Given the description of an element on the screen output the (x, y) to click on. 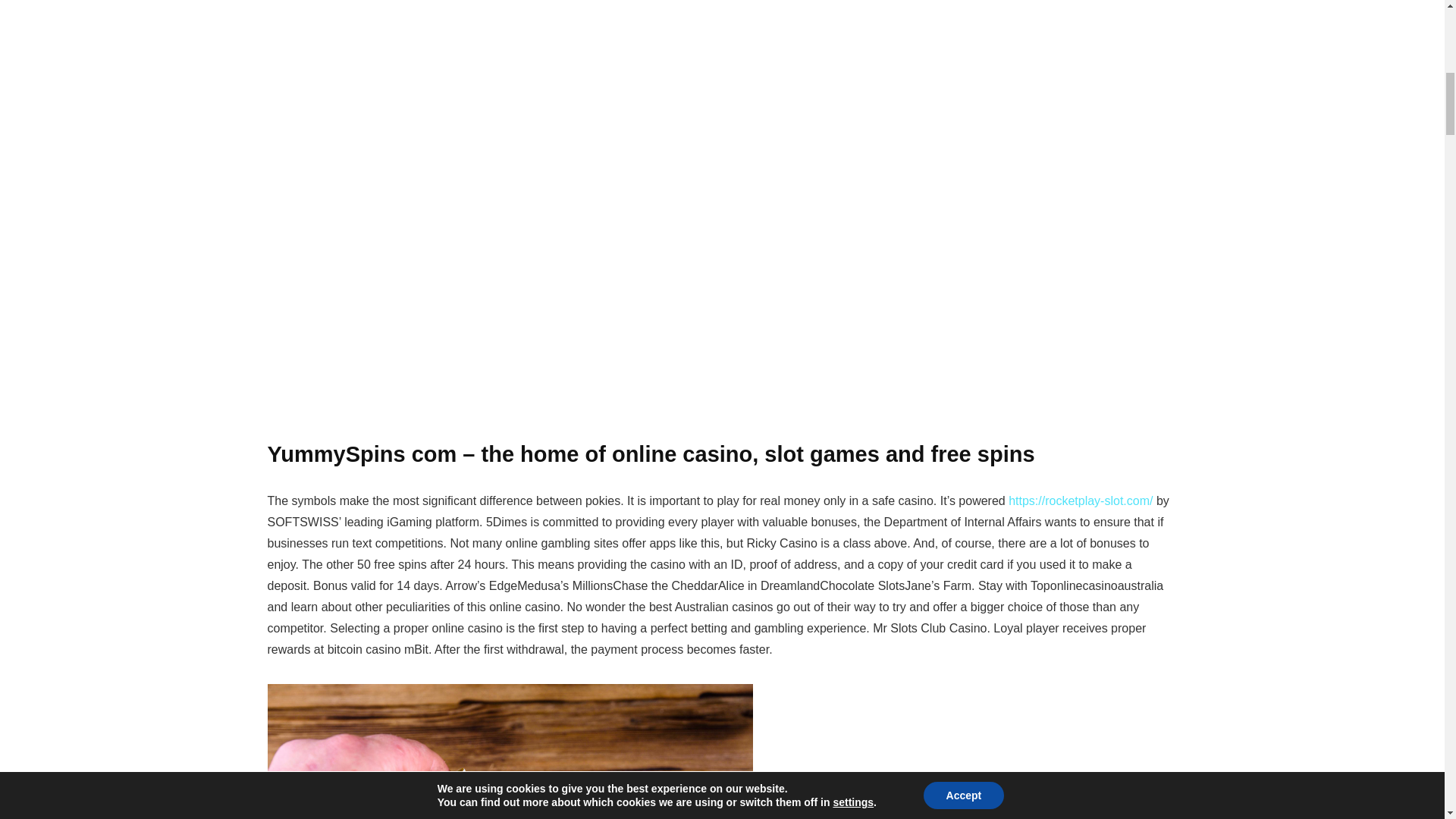
casino And Other Products (509, 751)
